Given the description of an element on the screen output the (x, y) to click on. 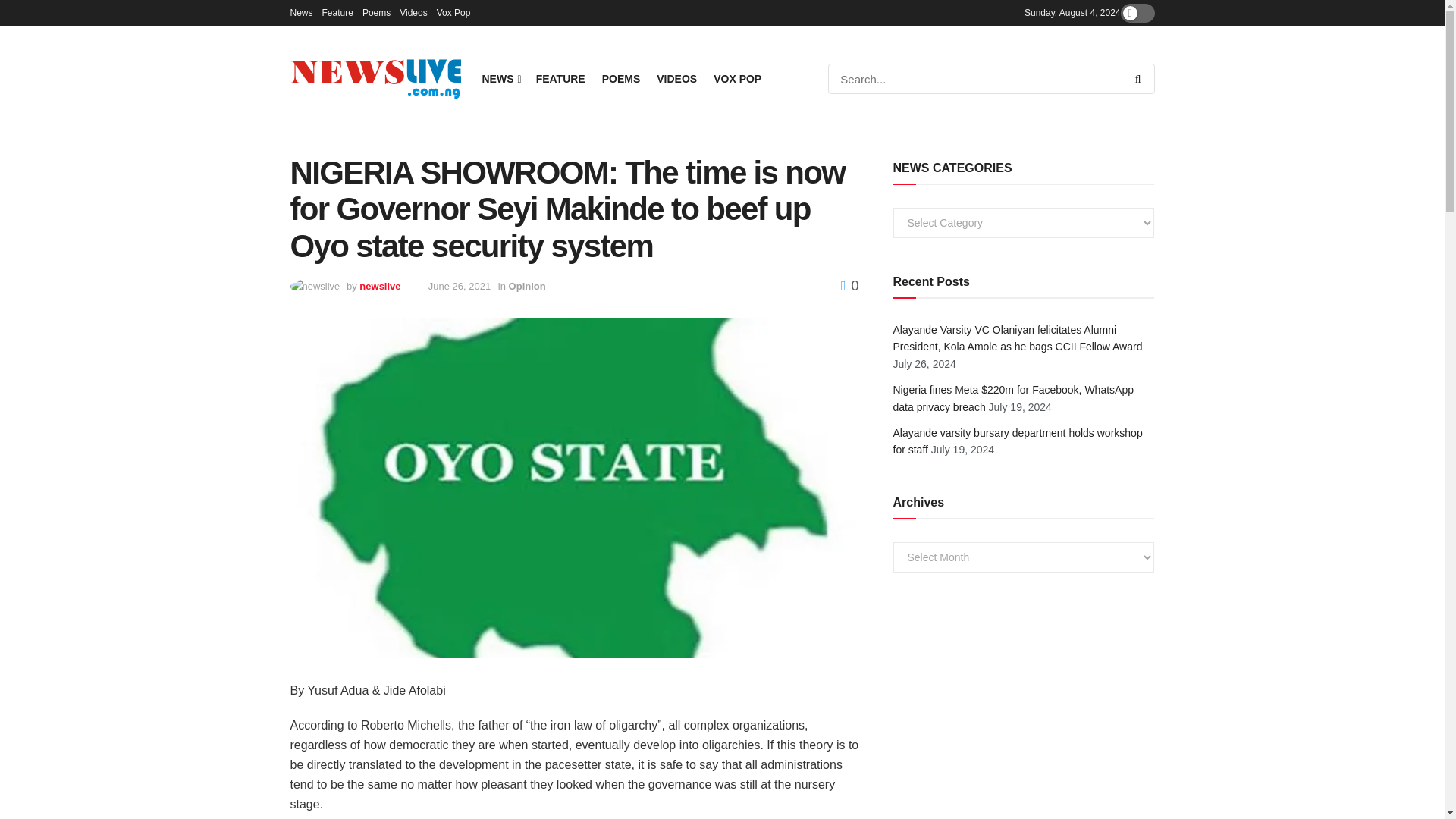
FEATURE (560, 78)
NEWS (500, 78)
Feature (337, 12)
VOX POP (737, 78)
Poems (376, 12)
News (301, 12)
POEMS (621, 78)
Vox Pop (453, 12)
Videos (412, 12)
VIDEOS (676, 78)
